Given the description of an element on the screen output the (x, y) to click on. 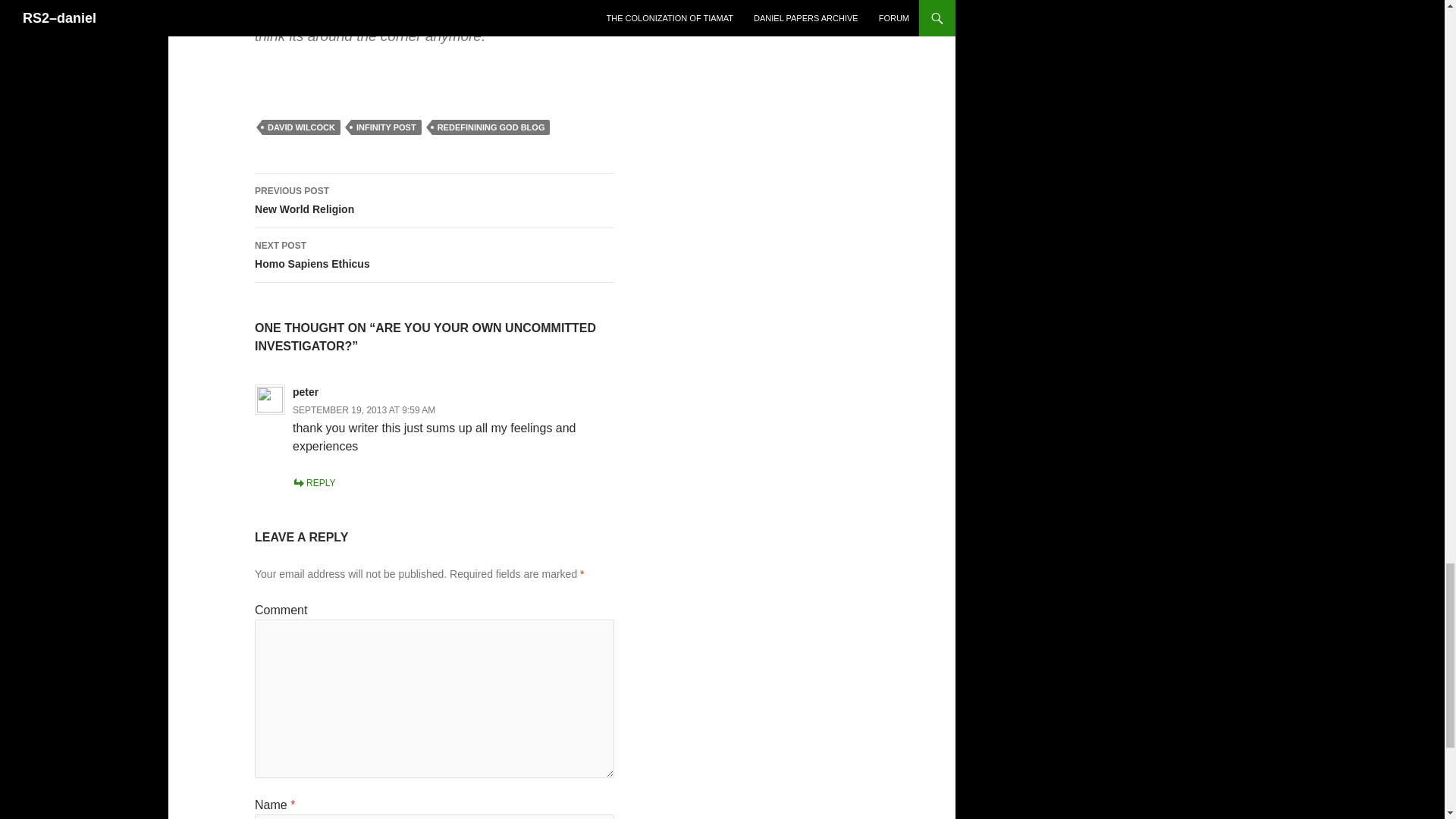
SEPTEMBER 19, 2013 AT 9:59 AM (363, 409)
INFINITY POST (434, 255)
REPLY (386, 127)
DAVID WILCOCK (434, 200)
REDEFININING GOD BLOG (313, 482)
